Given the description of an element on the screen output the (x, y) to click on. 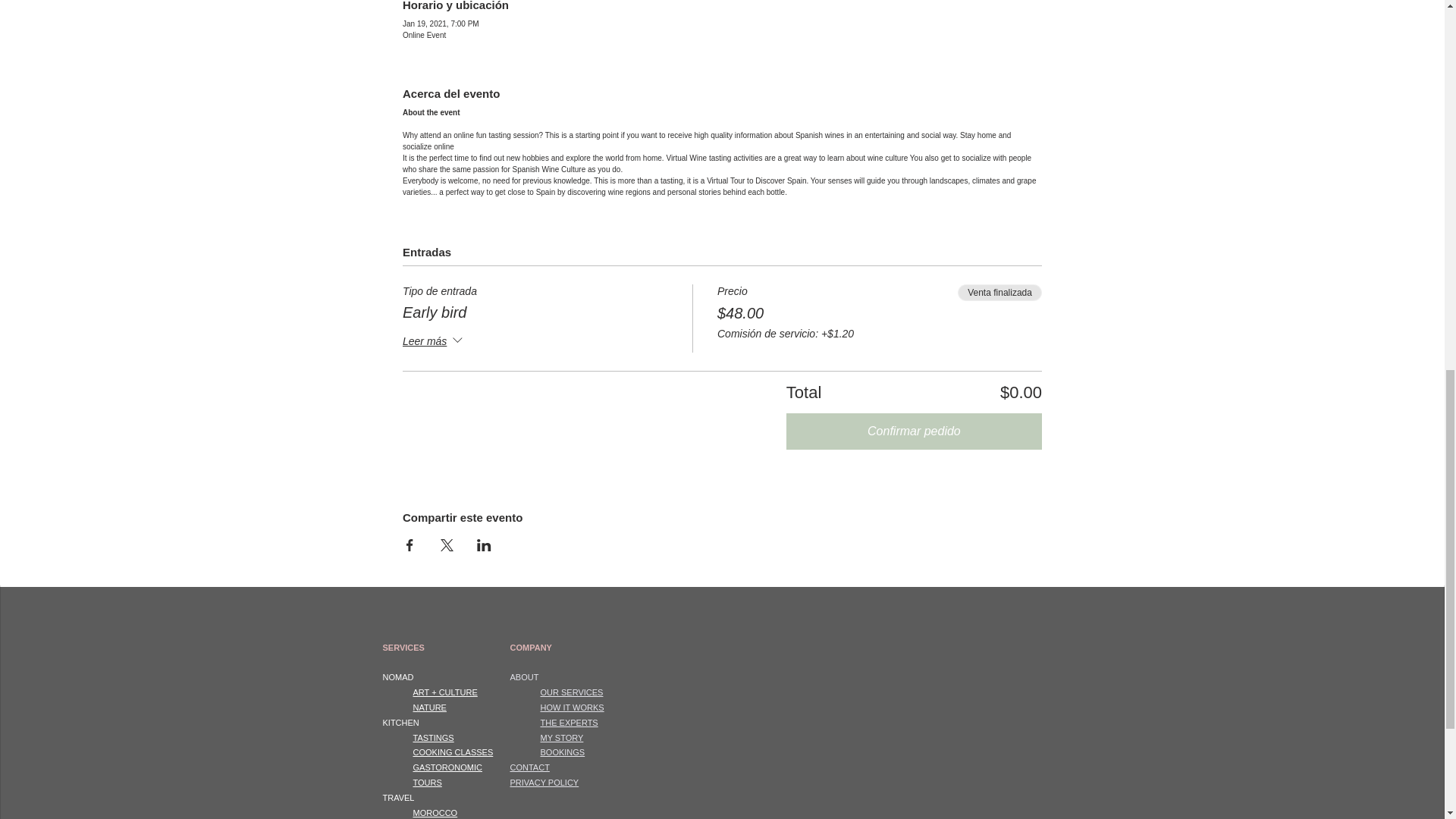
Confirmar pedido (914, 431)
OUR SERVICES (571, 691)
HOW IT WORKS (572, 706)
GASTORONOMIC TOURS (446, 774)
COOKING CLASSES (452, 751)
BOOKINGS (562, 751)
CONTACT (528, 767)
NATURE (428, 706)
TASTINGS (432, 737)
MY STORY (561, 737)
